Given the description of an element on the screen output the (x, y) to click on. 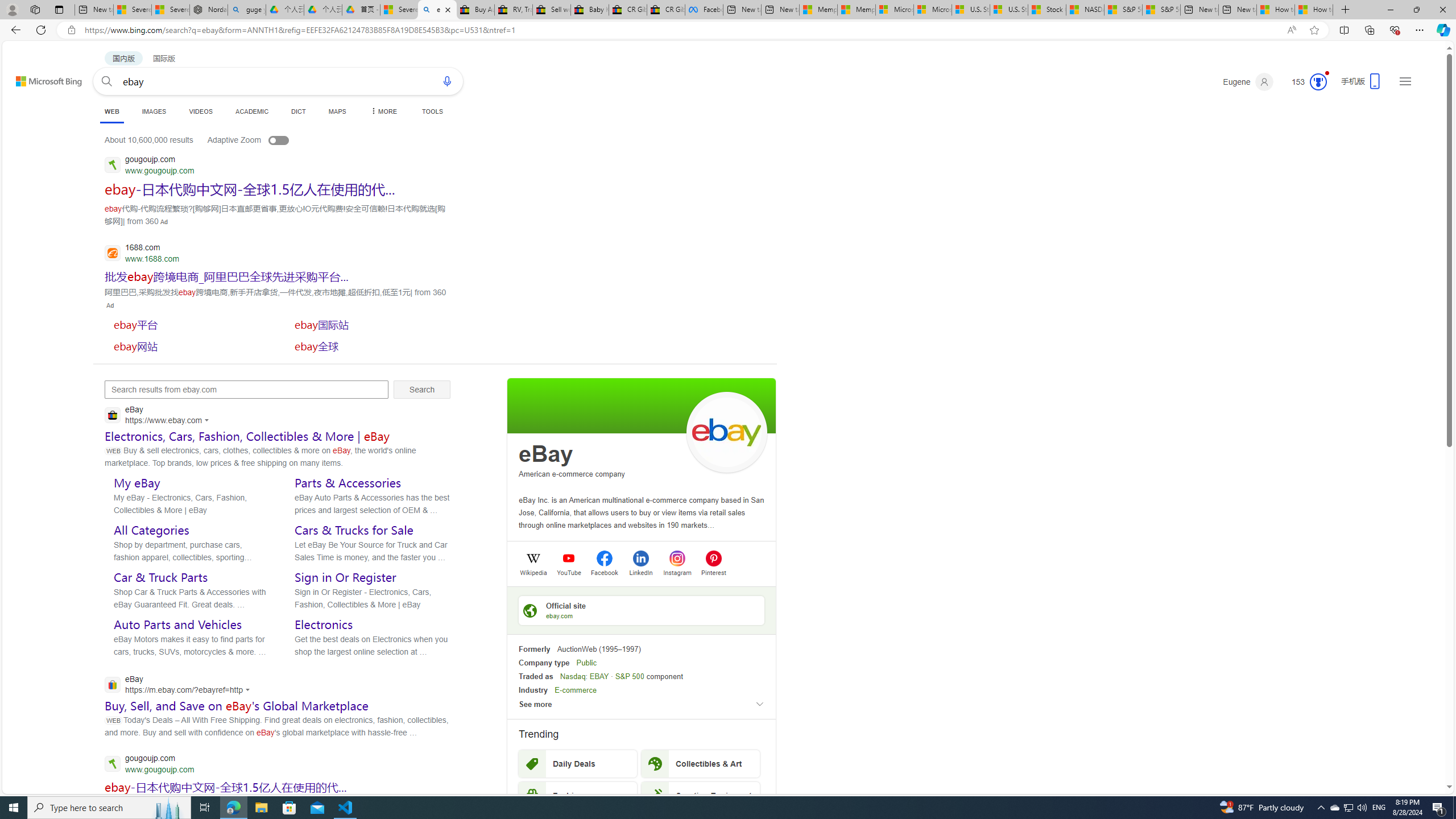
S&P 500, Nasdaq end lower, weighed by Nvidia dip | Watch (1161, 9)
Daily Deals (577, 763)
E-commerce (575, 690)
LinkedIn (640, 571)
Search more (1423, 753)
Parts & Accessories (347, 482)
WEB (111, 112)
Global web icon (111, 684)
